Given the description of an element on the screen output the (x, y) to click on. 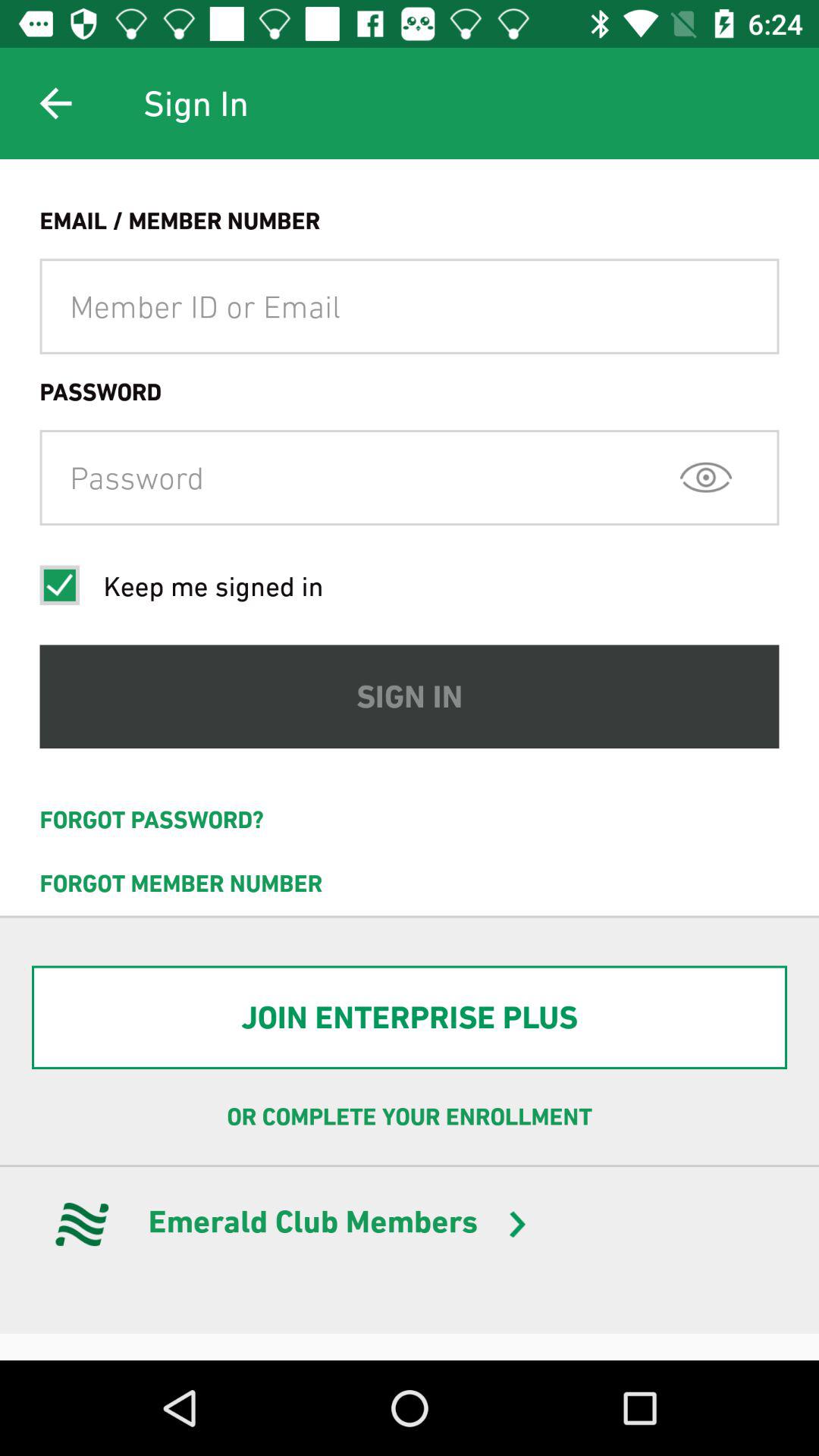
tap item above email / member number (55, 103)
